Given the description of an element on the screen output the (x, y) to click on. 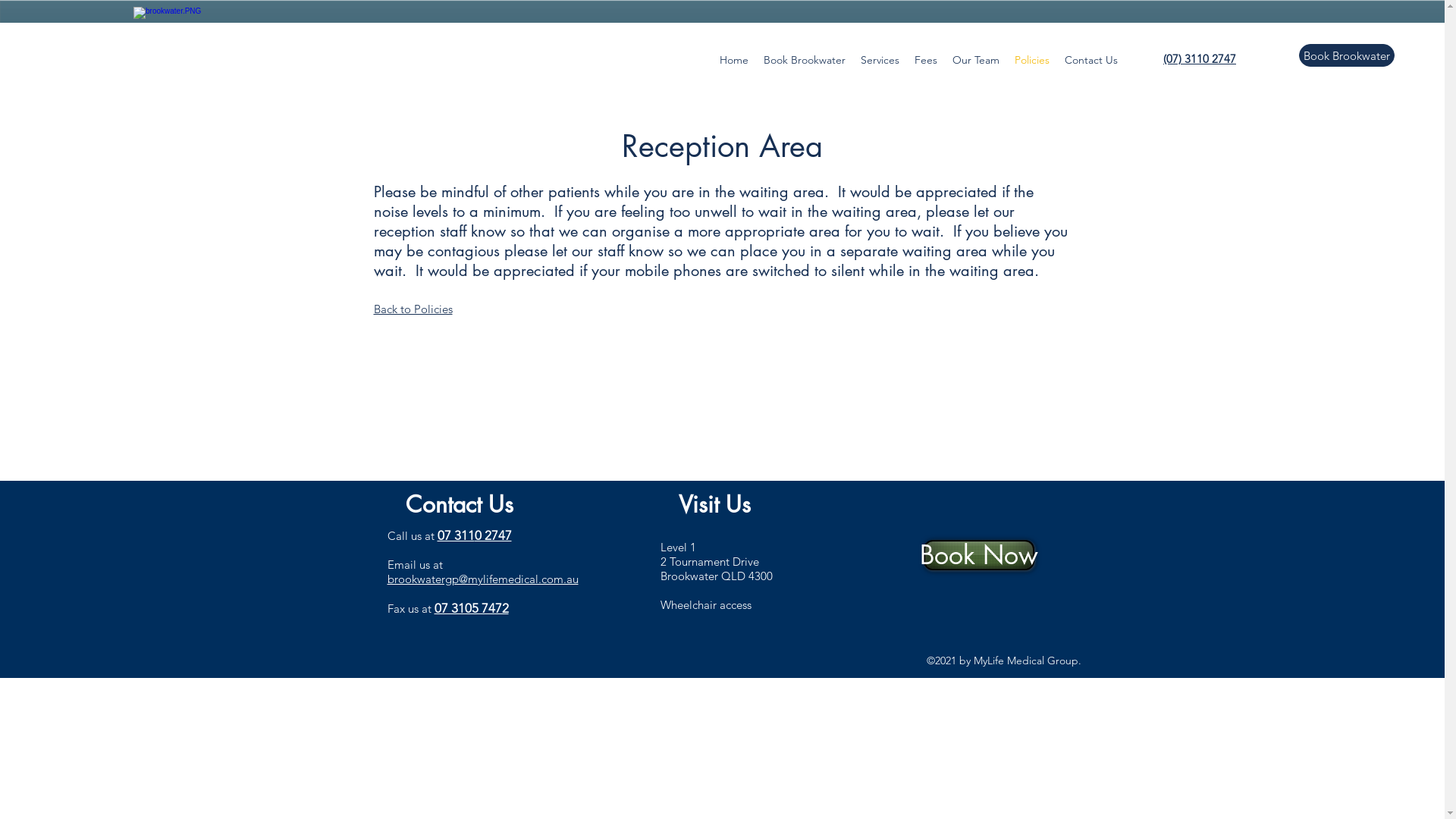
Book Brookwater Element type: text (1346, 54)
Services Element type: text (879, 59)
07 3105 7472 Element type: text (470, 608)
Fees Element type: text (925, 59)
Policies Element type: text (1032, 59)
07 3110 2747 Element type: text (473, 535)
Home Element type: text (734, 59)
Book Now Element type: text (978, 554)
Book Brookwater Element type: text (804, 59)
brookwatergp@mylifemedical.com.au Element type: text (481, 578)
Our Team Element type: text (975, 59)
Back to Policies Element type: text (412, 308)
Contact Us Element type: text (1091, 59)
(07) 3110 2747 Element type: text (1199, 57)
